Given the description of an element on the screen output the (x, y) to click on. 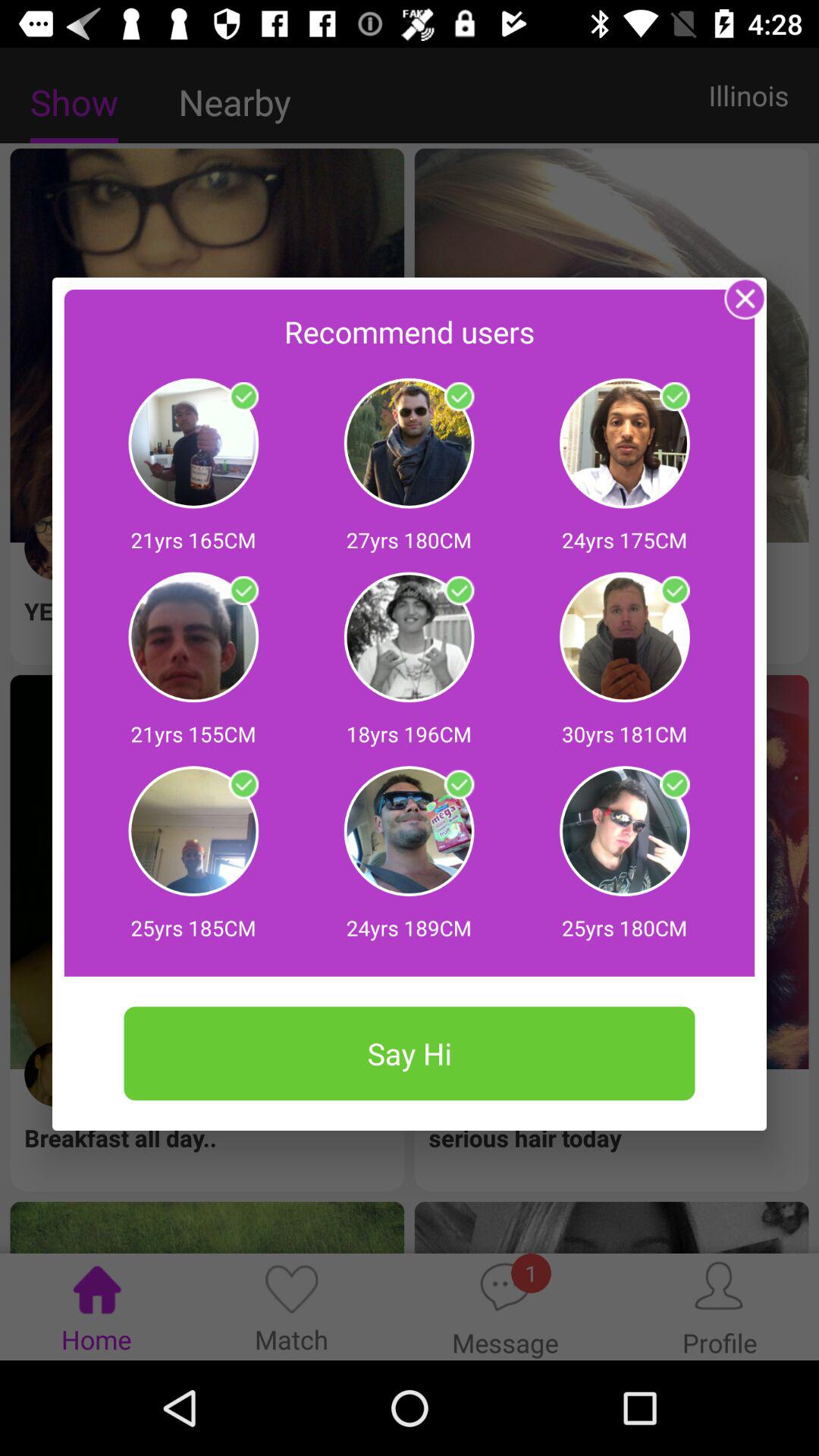
view profile (674, 396)
